Given the description of an element on the screen output the (x, y) to click on. 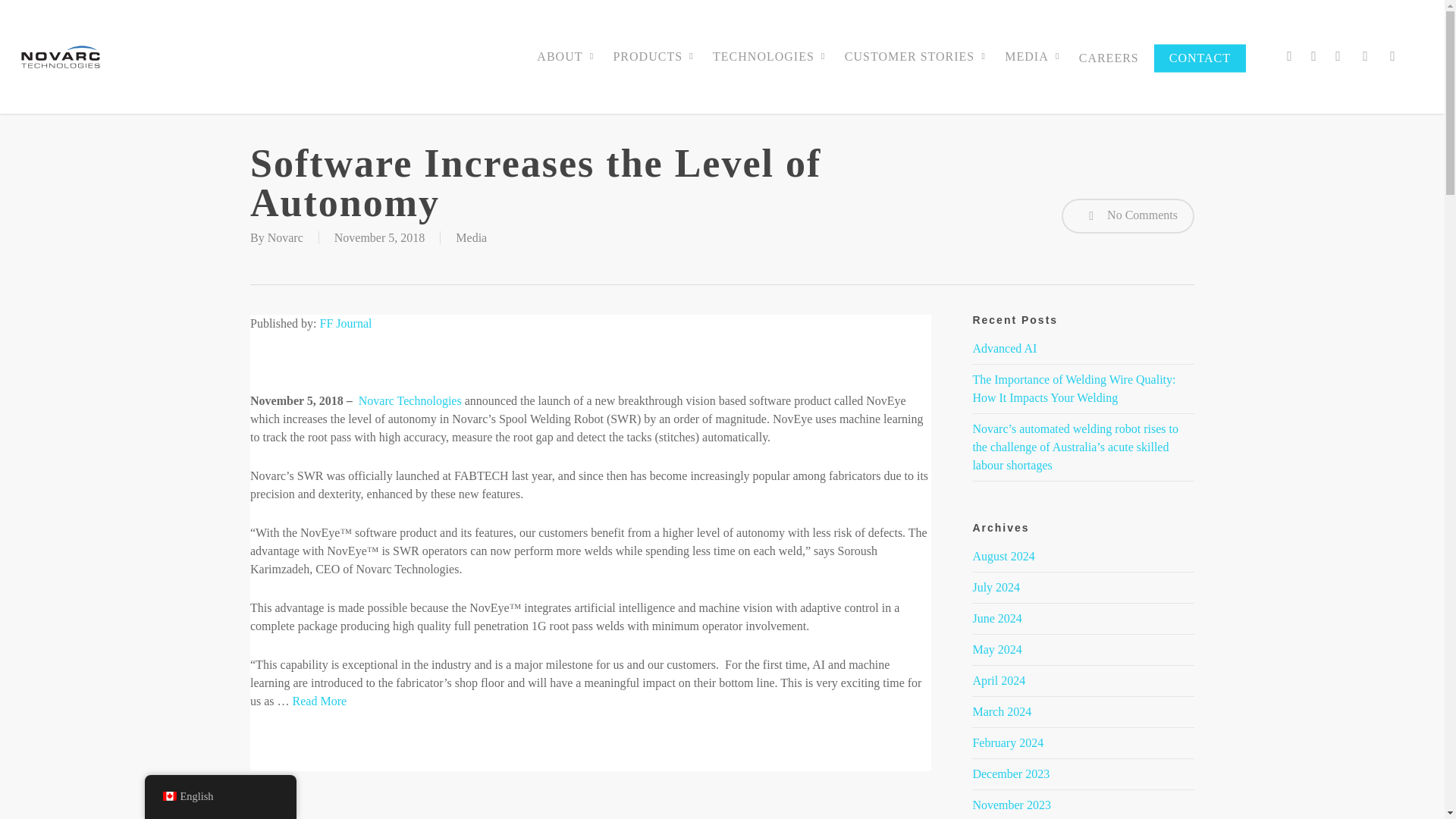
TECHNOLOGIES (770, 56)
PRODUCTS (654, 56)
CUSTOMER STORIES (917, 56)
English (168, 795)
MEDIA (1033, 56)
Posts by Novarc (284, 237)
ABOUT (567, 56)
